Given the description of an element on the screen output the (x, y) to click on. 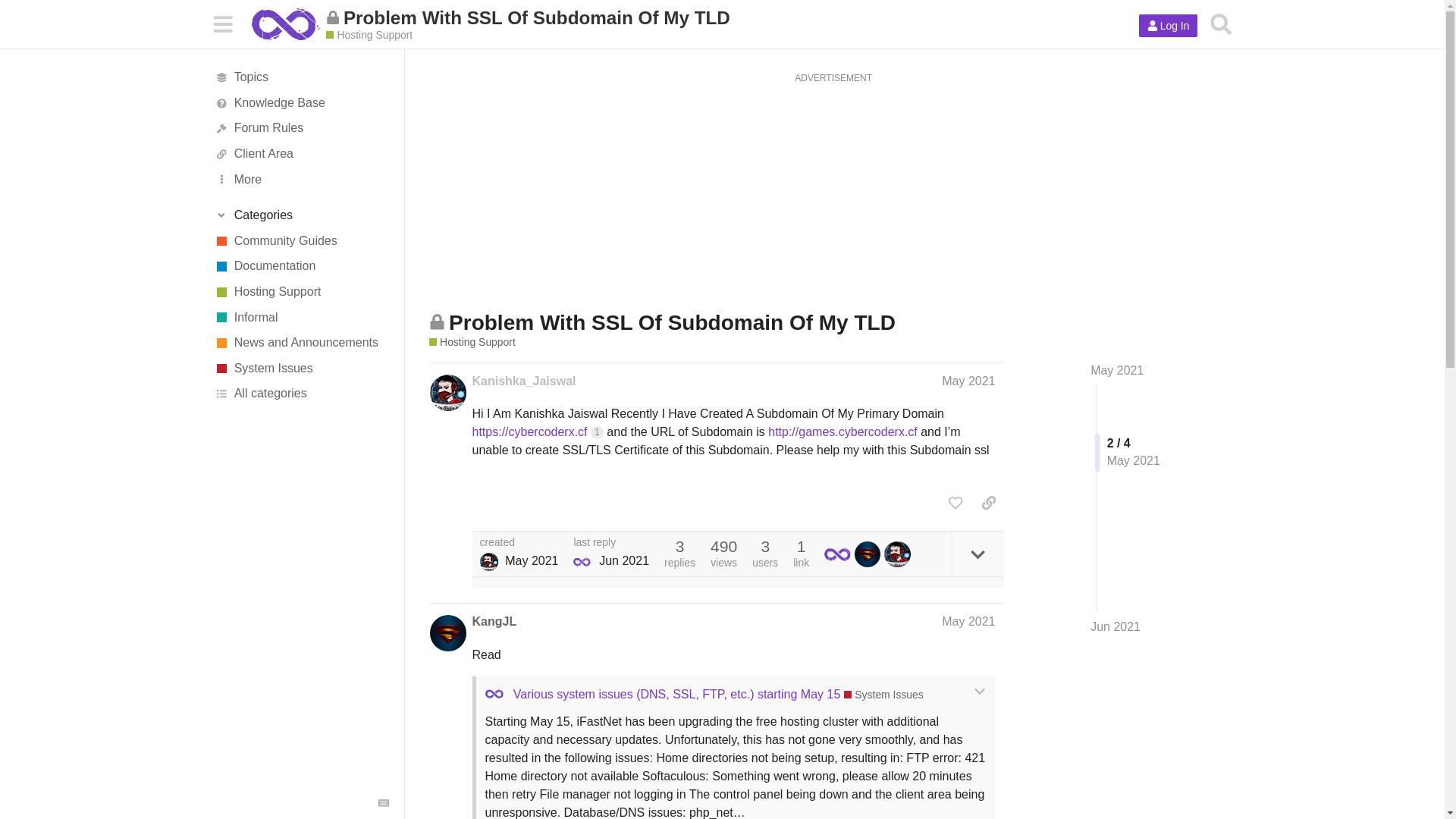
Informal (301, 317)
Hosting Support (301, 291)
Problem With SSL Of Subdomain Of My TLD (729, 17)
Post date (968, 380)
More (301, 179)
Knowledge Base (301, 103)
Jun 2021 (1115, 627)
Documentation (301, 266)
This topic is closed; it no longer accepts new replies (437, 321)
Hosting Support (369, 34)
